Given the description of an element on the screen output the (x, y) to click on. 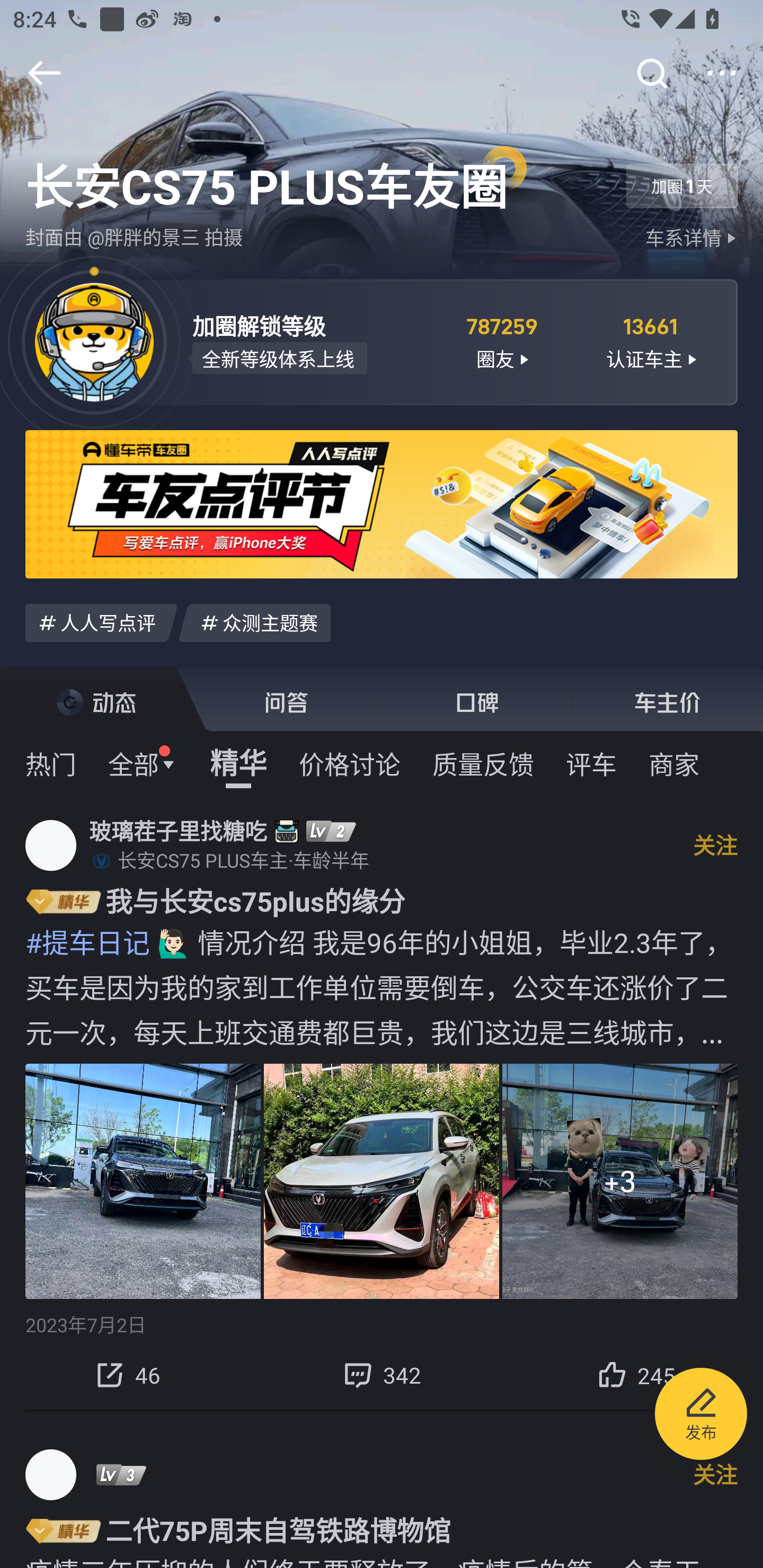
 (44, 72)
 (651, 72)
 (721, 72)
车系详情 (692, 238)
加圈解锁等级 全新等级体系上线 (307, 341)
787259 圈友 (501, 341)
13661 认证车主 (650, 341)
 人人写点评 (101, 622)
 众测主题赛 (253, 622)
热门 (50, 762)
全部  (142, 762)
精华 (238, 762)
价格讨论 (349, 762)
质量反馈 (483, 762)
评车 (591, 762)
商家 (673, 762)
玻璃茬子里找糖吃 (178, 830)
关注 (714, 844)
+3 (381, 1180)
+3 (619, 1180)
 46 (127, 1374)
 342 (381, 1374)
245 (635, 1374)
 发布 (701, 1416)
关注 (714, 1474)
